Given the description of an element on the screen output the (x, y) to click on. 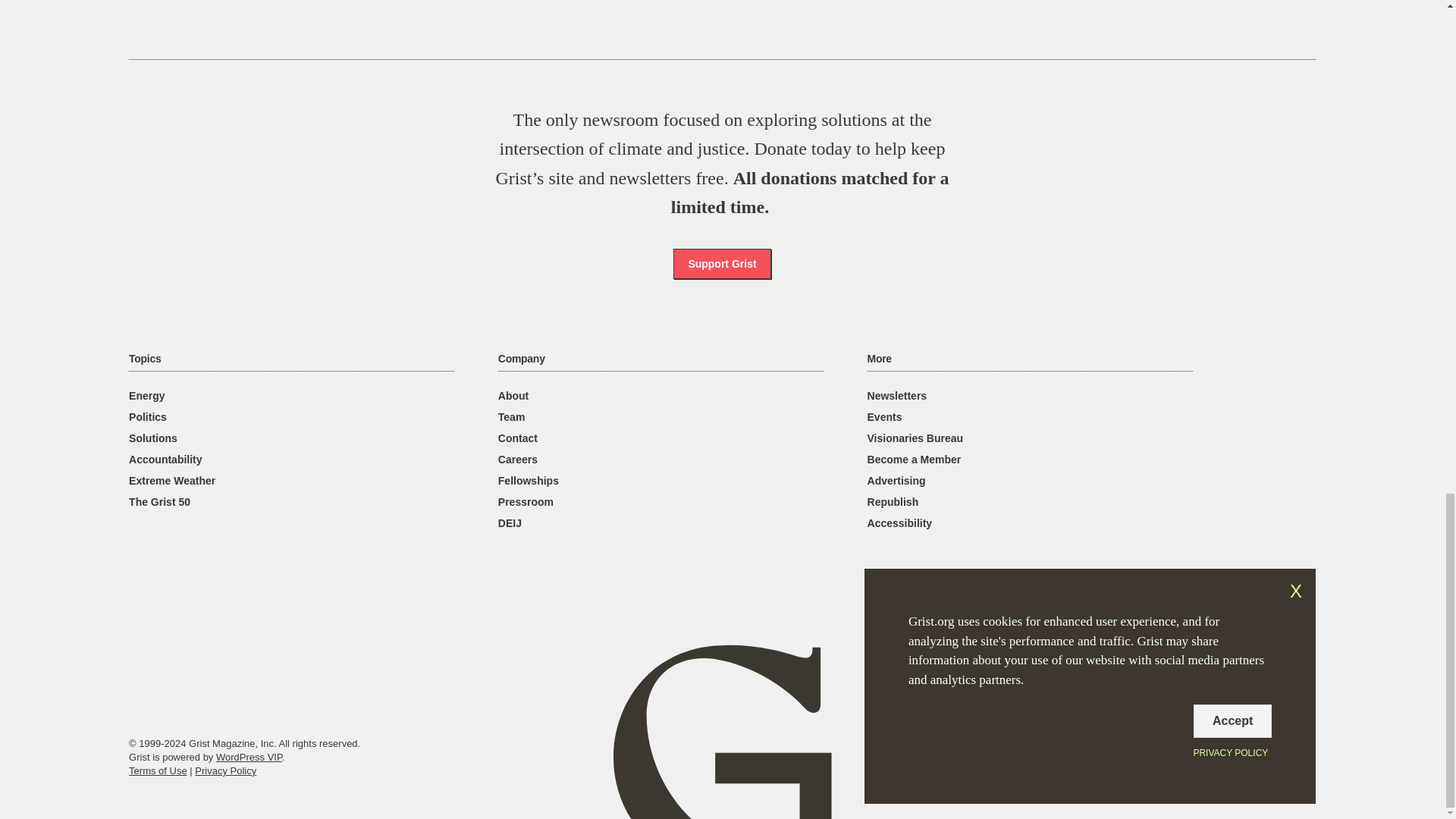
Company (520, 358)
More (879, 358)
Topics (144, 358)
